Given the description of an element on the screen output the (x, y) to click on. 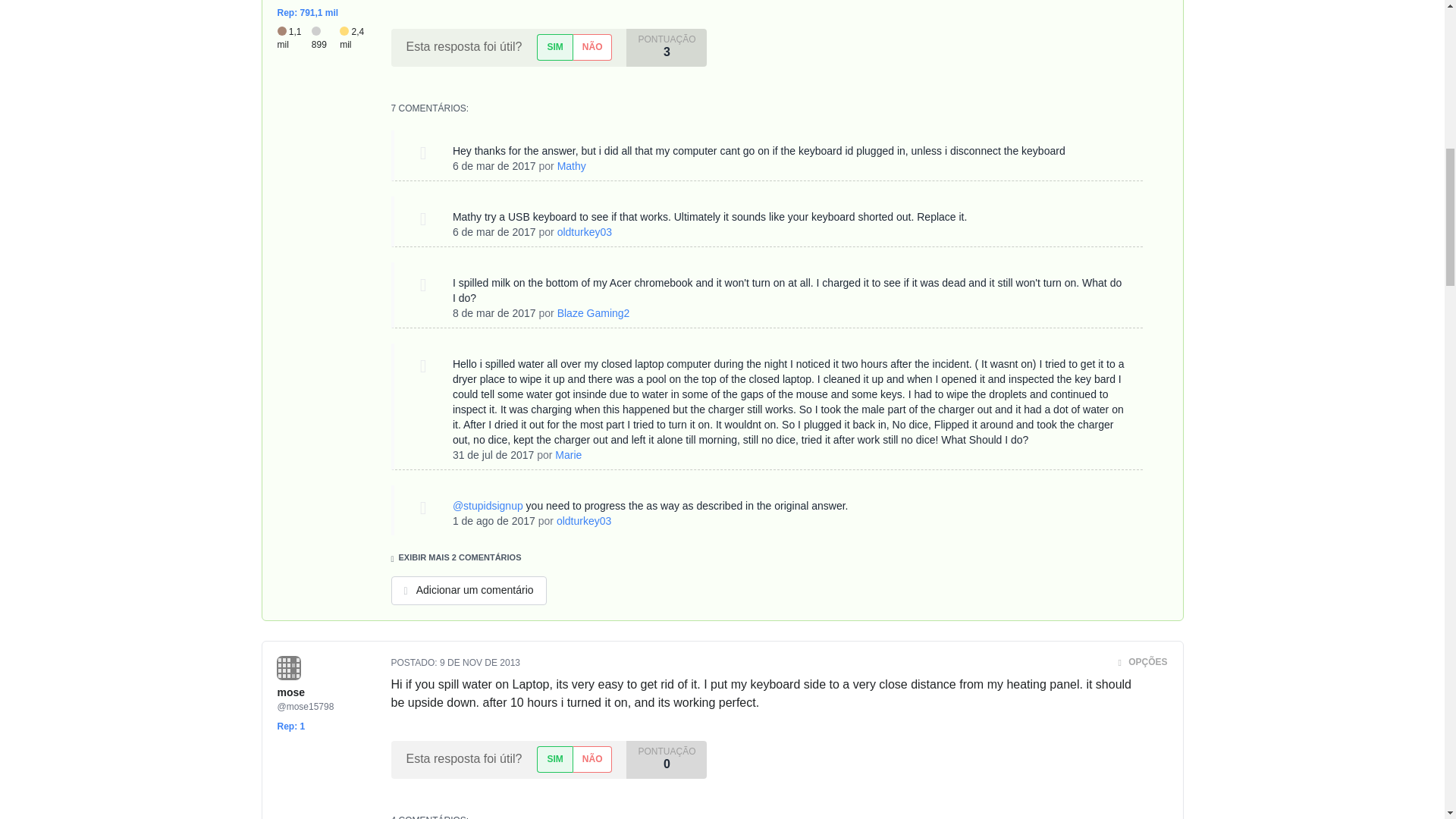
Mon, 06 Mar 2017 22:02:42 -0700 (493, 232)
2404 emblemas de Ouro (353, 38)
Tue, 01 Aug 2017 04:44:21 -0700 (493, 521)
Mon, 31 Jul 2017 21:17:47 -0700 (493, 454)
Mon, 06 Mar 2017 07:34:53 -0700 (493, 165)
1153 emblemas de Bronze (294, 38)
899 emblemas de Prata (325, 38)
Wed, 08 Mar 2017 21:23:37 -0700 (493, 313)
